Given the description of an element on the screen output the (x, y) to click on. 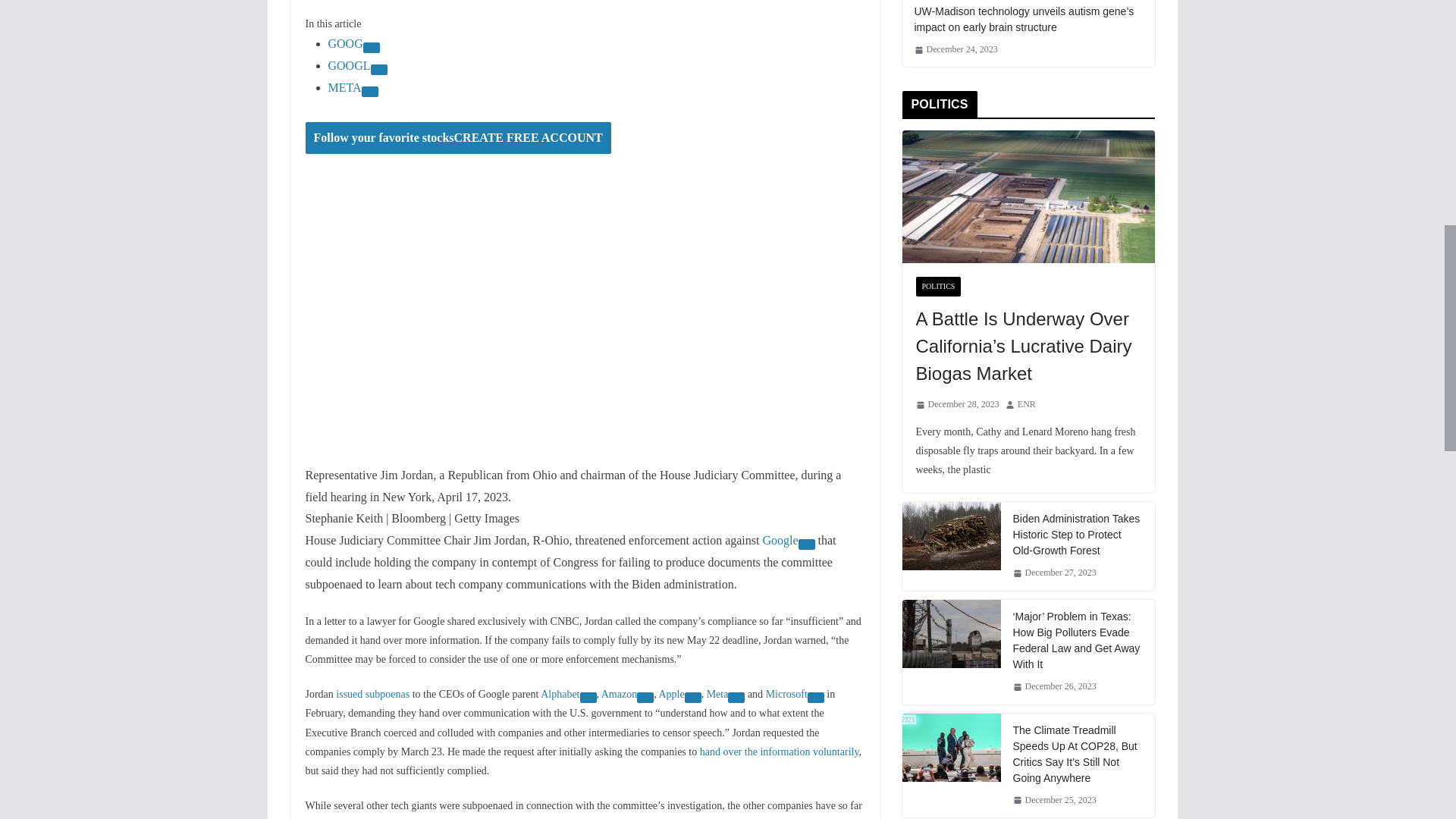
META (344, 87)
issued subpoenas (372, 694)
GOOG (344, 42)
Follow your favorite stocksCREATE FREE ACCOUNT (457, 138)
GOOGL (348, 65)
Google (779, 540)
Alphabet (559, 694)
